Given the description of an element on the screen output the (x, y) to click on. 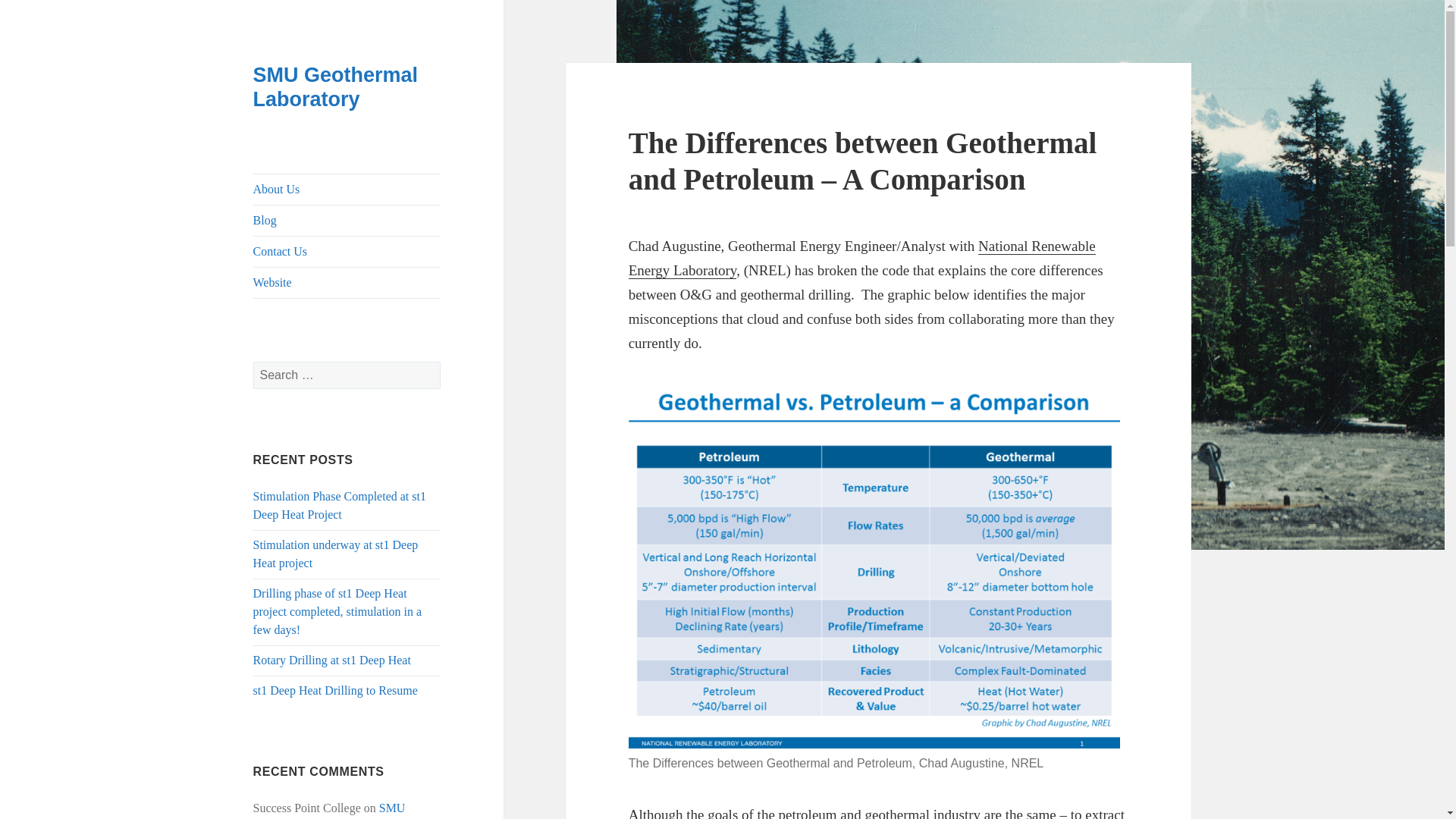
Stimulation underway at st1 Deep Heat project (336, 553)
National Renewable Energy Laboratory (862, 258)
Stimulation Phase Completed at st1 Deep Heat Project (339, 504)
About Us (347, 189)
SMU Geothermal Laboratory (336, 86)
Website (347, 282)
Rotary Drilling at st1 Deep Heat (331, 659)
Blog (347, 220)
st1 Deep Heat Drilling to Resume (335, 689)
SMU Researchers Collecting Heat Flow Data in Beaufort Sea (336, 810)
Contact Us (347, 251)
